Given the description of an element on the screen output the (x, y) to click on. 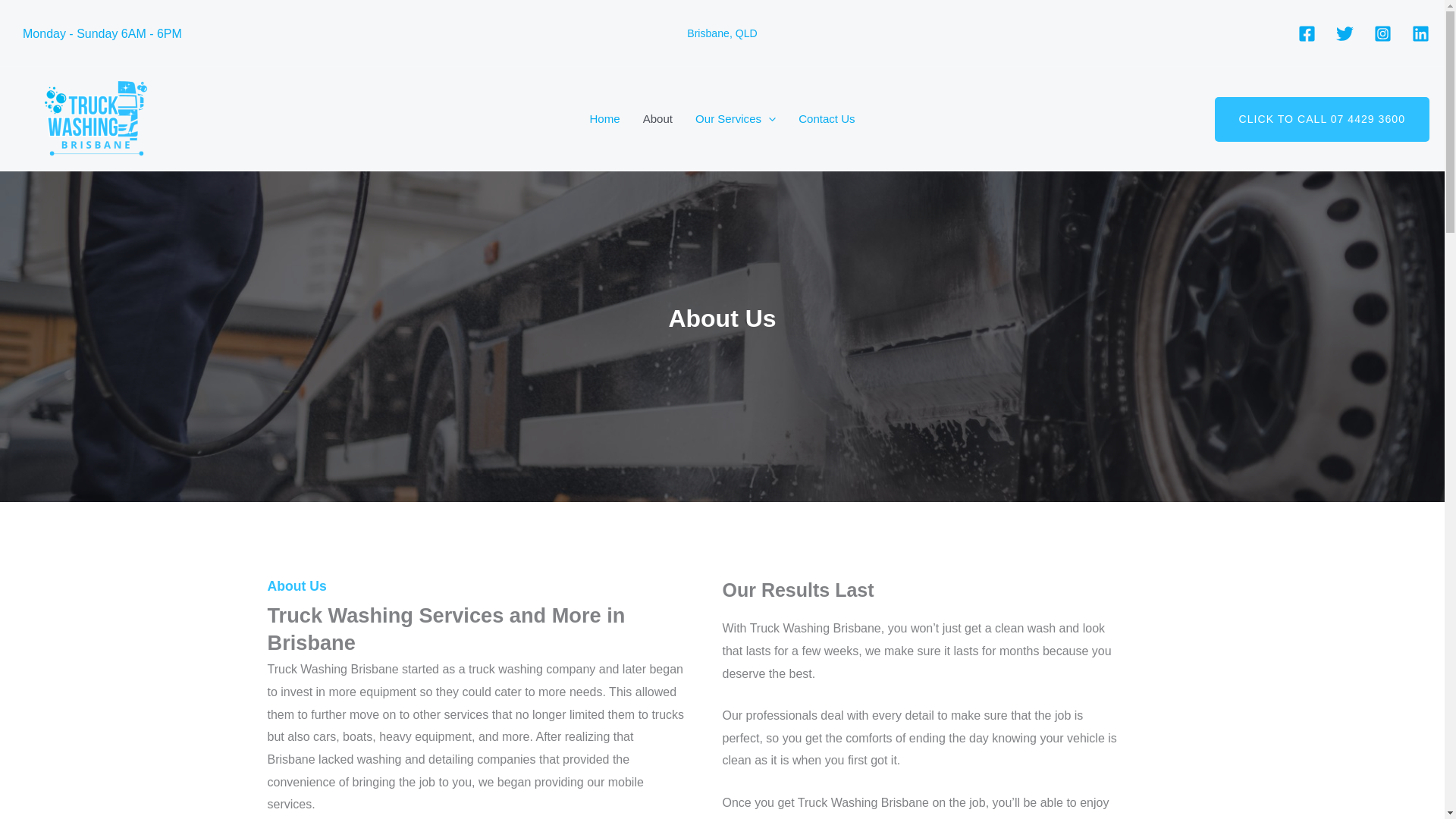
Contact Us (826, 118)
About (657, 118)
CLICK TO CALL 07 4429 3600 (1321, 118)
Our Services (735, 118)
Home (604, 118)
